Given the description of an element on the screen output the (x, y) to click on. 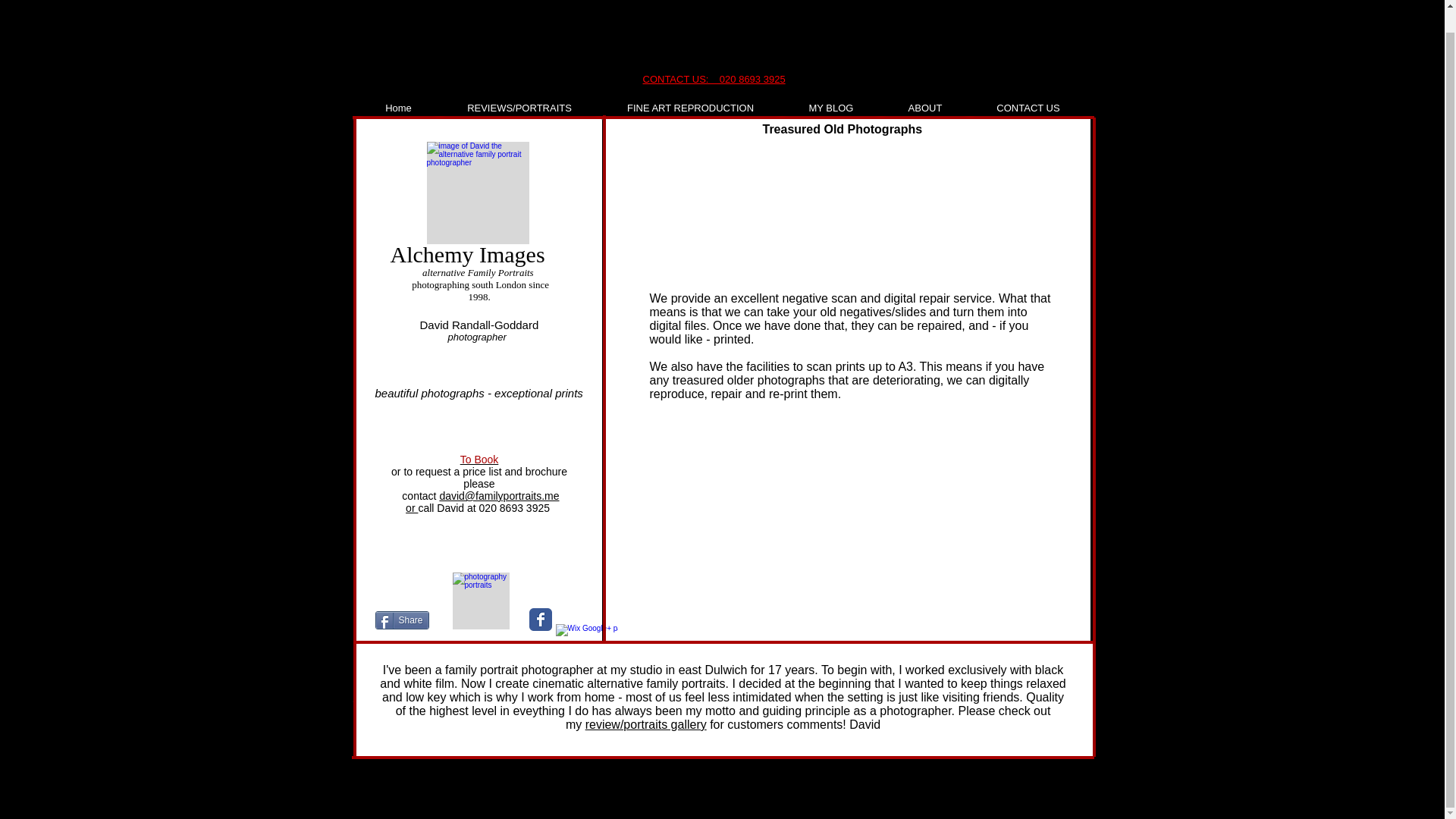
ABOUT (924, 108)
FINE ART REPRODUCTION (690, 108)
MY BLOG (831, 108)
portrait photographs (479, 600)
CONTACT US:    020 8693 3925 (714, 79)
Share (401, 619)
Home (398, 108)
or  (411, 508)
Share (401, 619)
CONTACT US (1028, 108)
To Book (479, 459)
